Given the description of an element on the screen output the (x, y) to click on. 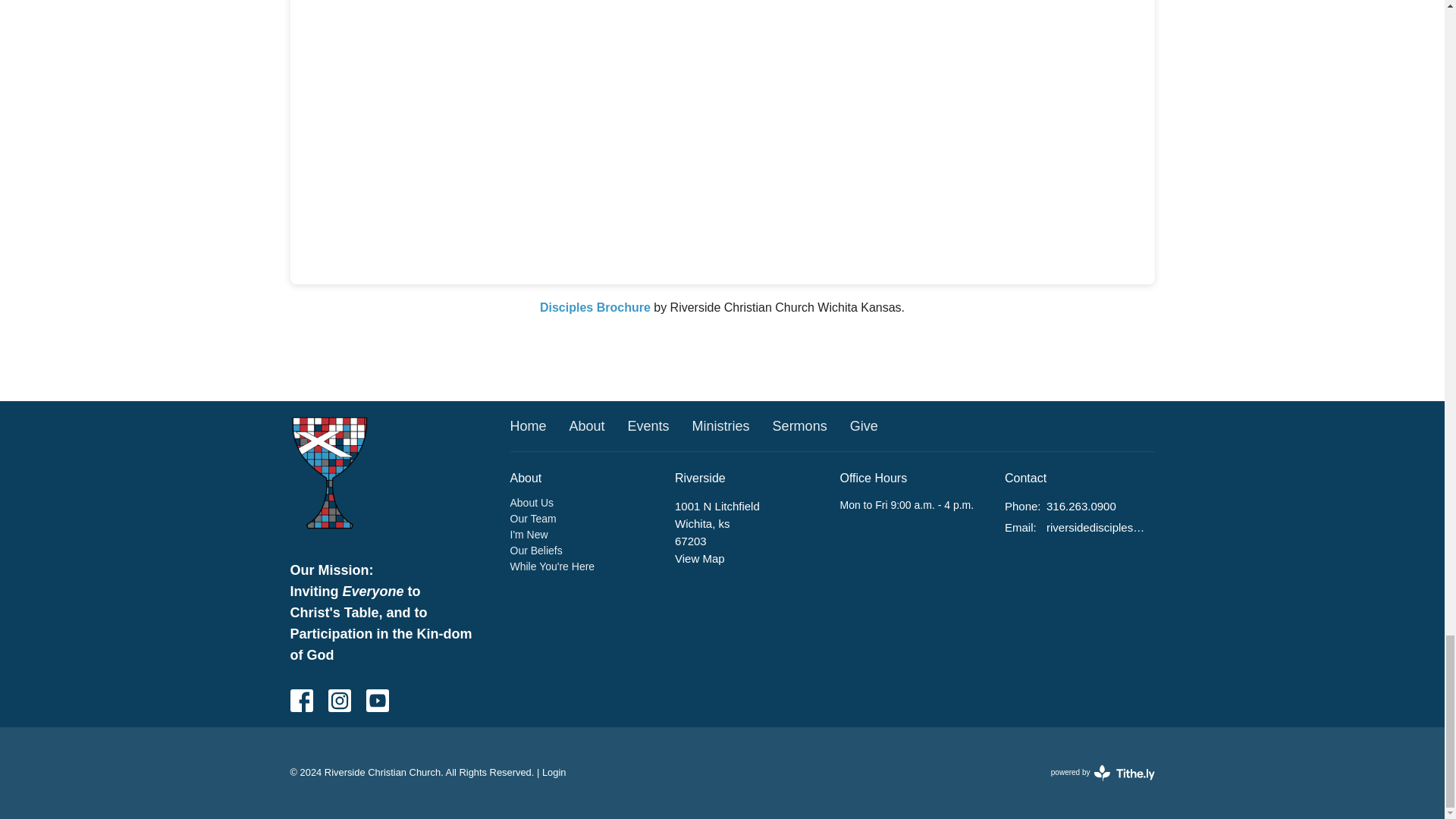
Home (527, 426)
Disciples Brochure (595, 307)
About (587, 426)
Events (648, 426)
Ministries (721, 426)
translation missing: en.ui.email (1018, 526)
